Given the description of an element on the screen output the (x, y) to click on. 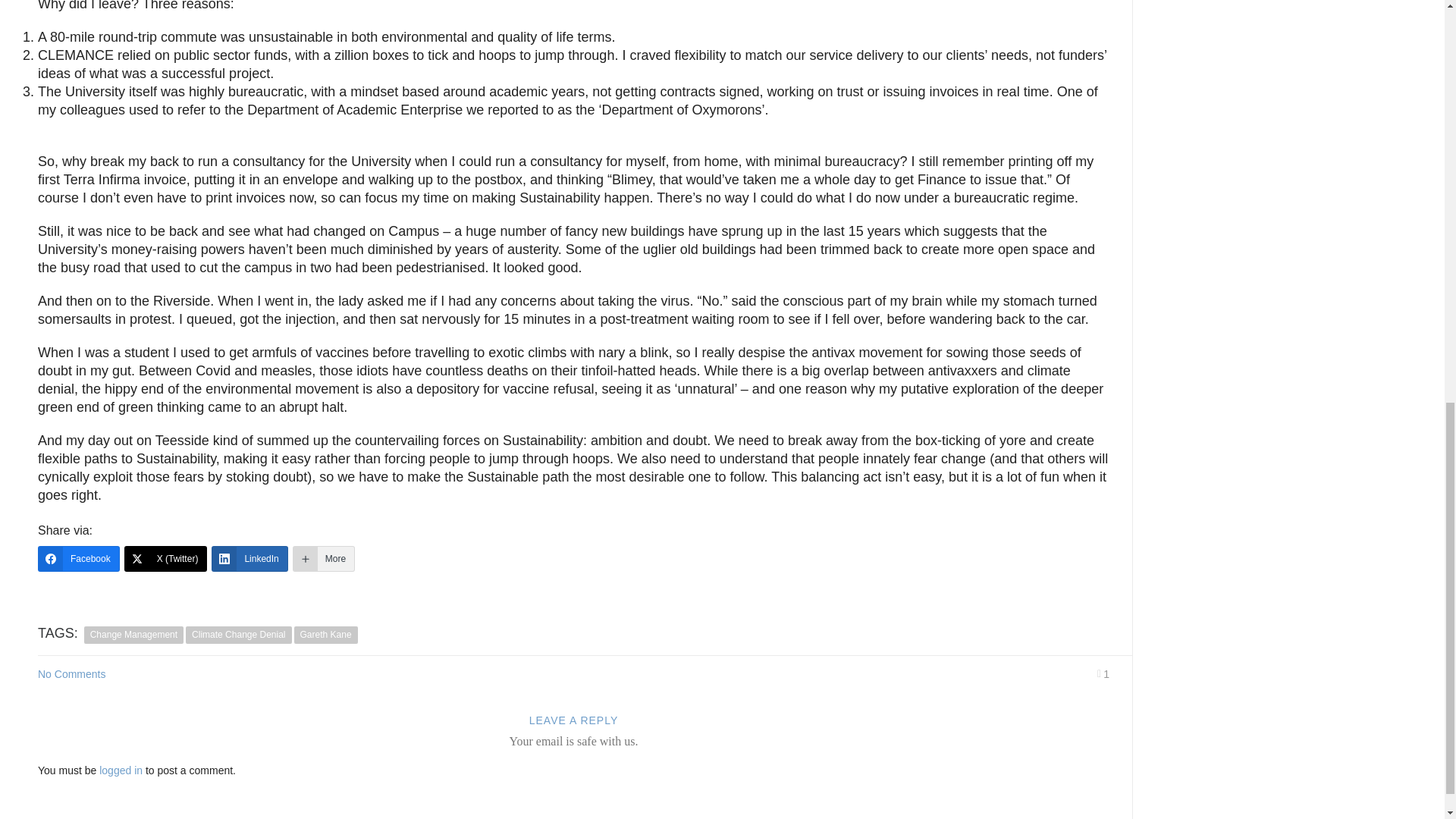
Change Management (133, 634)
More (323, 558)
No Comments (70, 674)
Facebook (78, 558)
LinkedIn (248, 558)
